Given the description of an element on the screen output the (x, y) to click on. 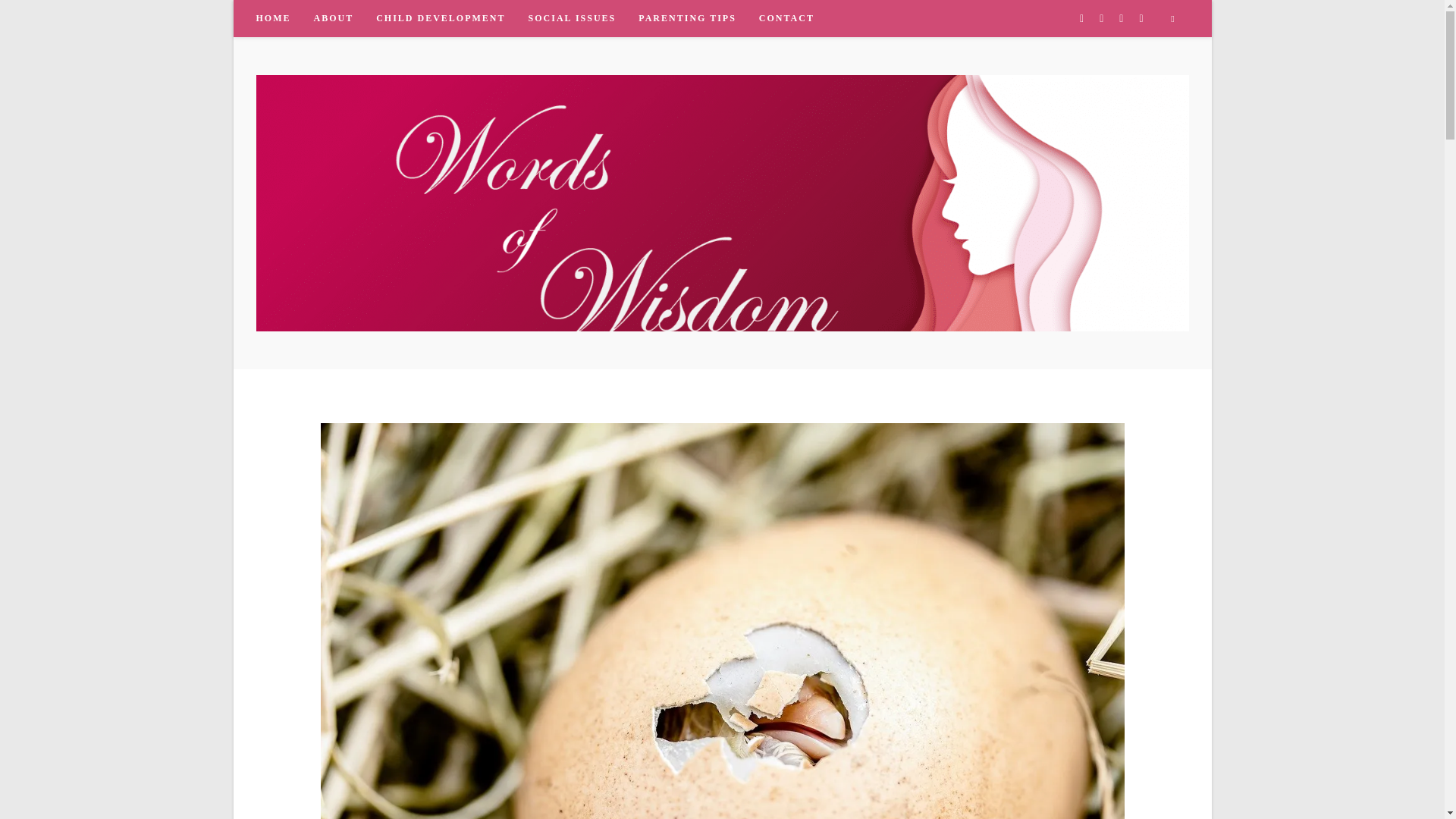
ABOUT (333, 18)
CONTACT (786, 18)
PARENTING TIPS (687, 18)
CHILD DEVELOPMENT (440, 18)
SOCIAL ISSUES (571, 18)
HOME (272, 18)
